Given the description of an element on the screen output the (x, y) to click on. 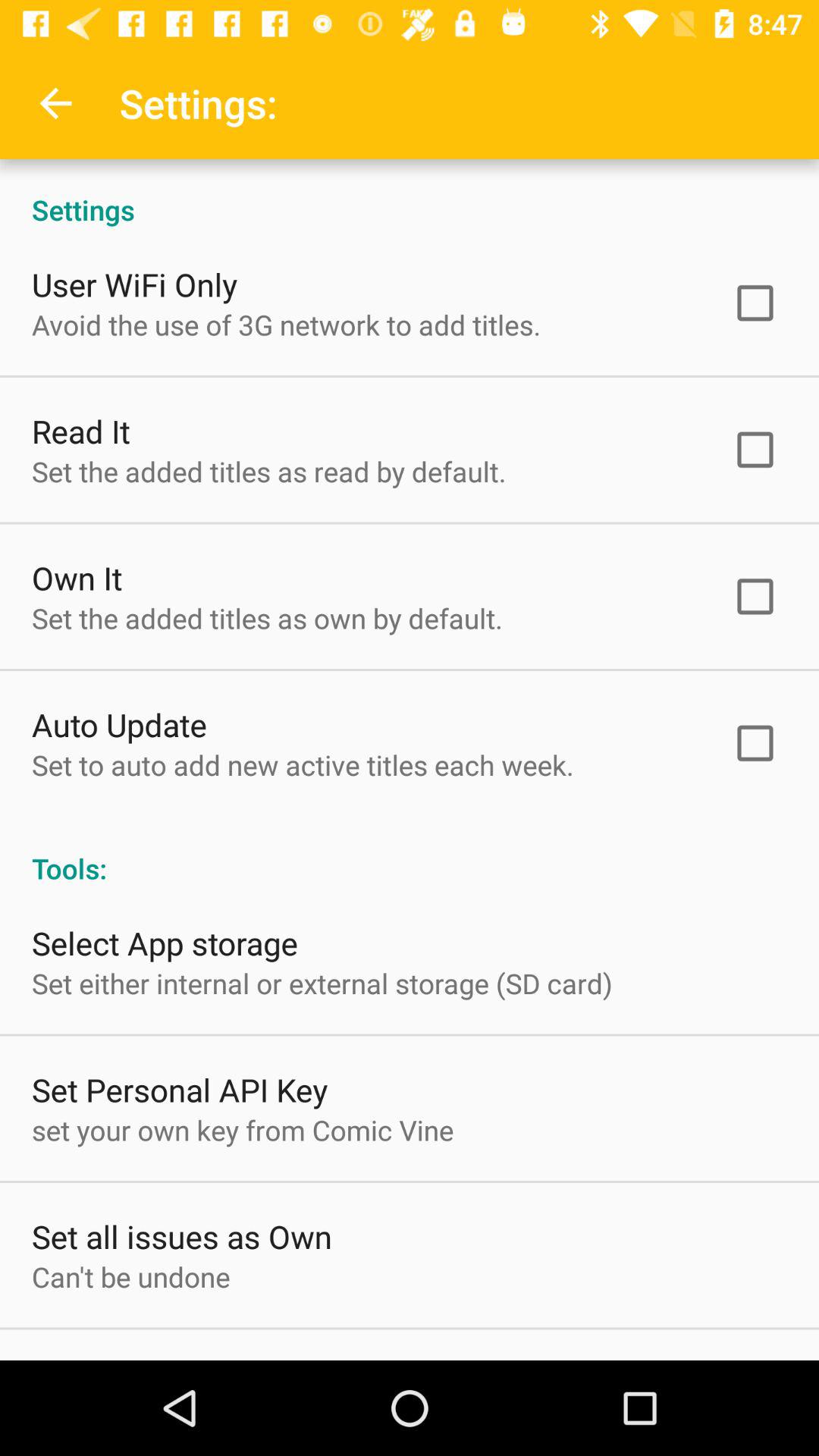
scroll until the user wifi only (134, 283)
